Given the description of an element on the screen output the (x, y) to click on. 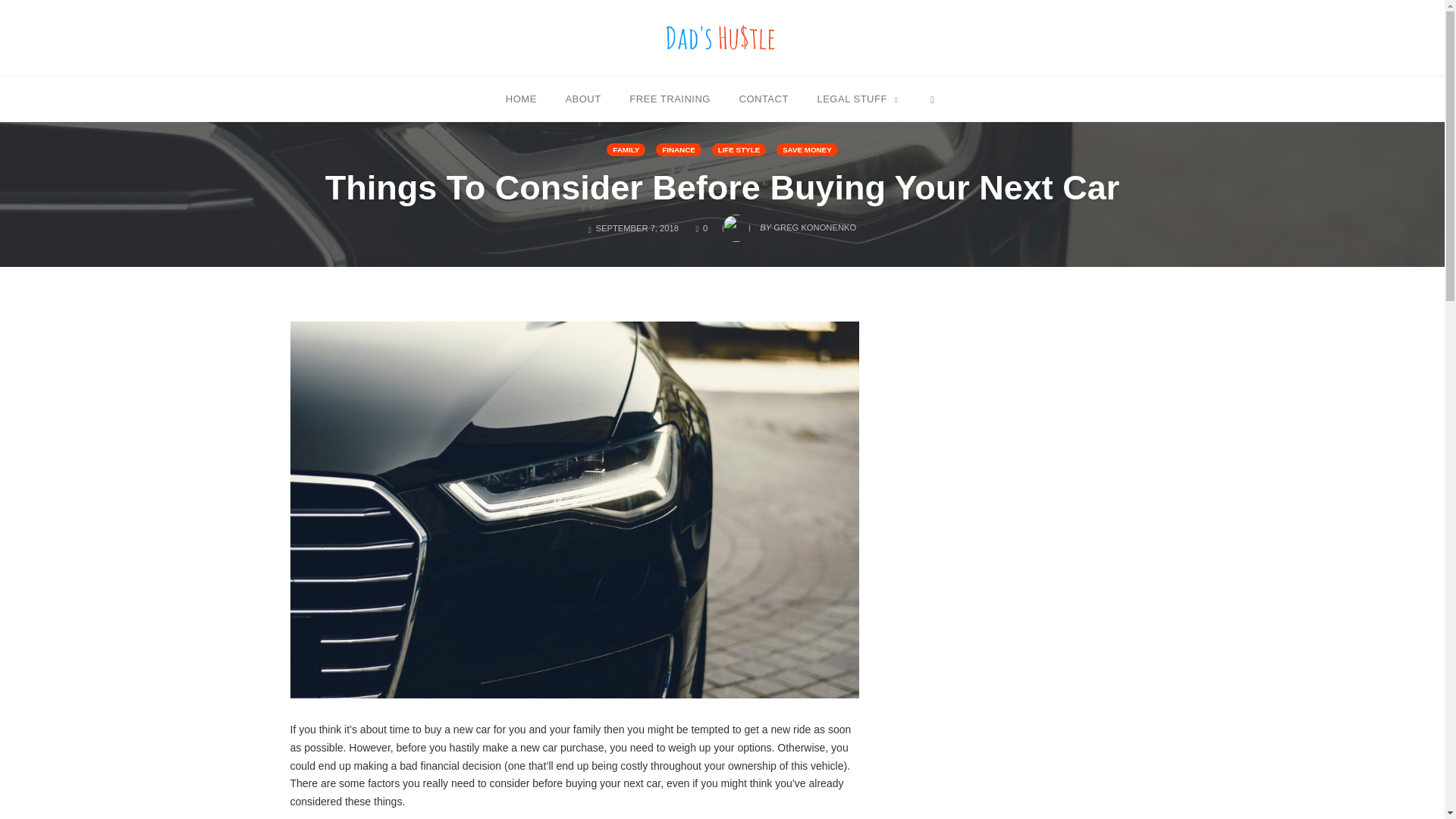
CONTACT (763, 97)
FREE TRAINING (670, 97)
OPEN SEARCH FORM (931, 97)
LIFE STYLE (739, 149)
BY GREG KONONENKO (789, 223)
LEGAL STUFF (856, 97)
SAVE MONEY (807, 149)
Dad's Hustle (721, 37)
HOME (520, 97)
FINANCE (678, 149)
